Given the description of an element on the screen output the (x, y) to click on. 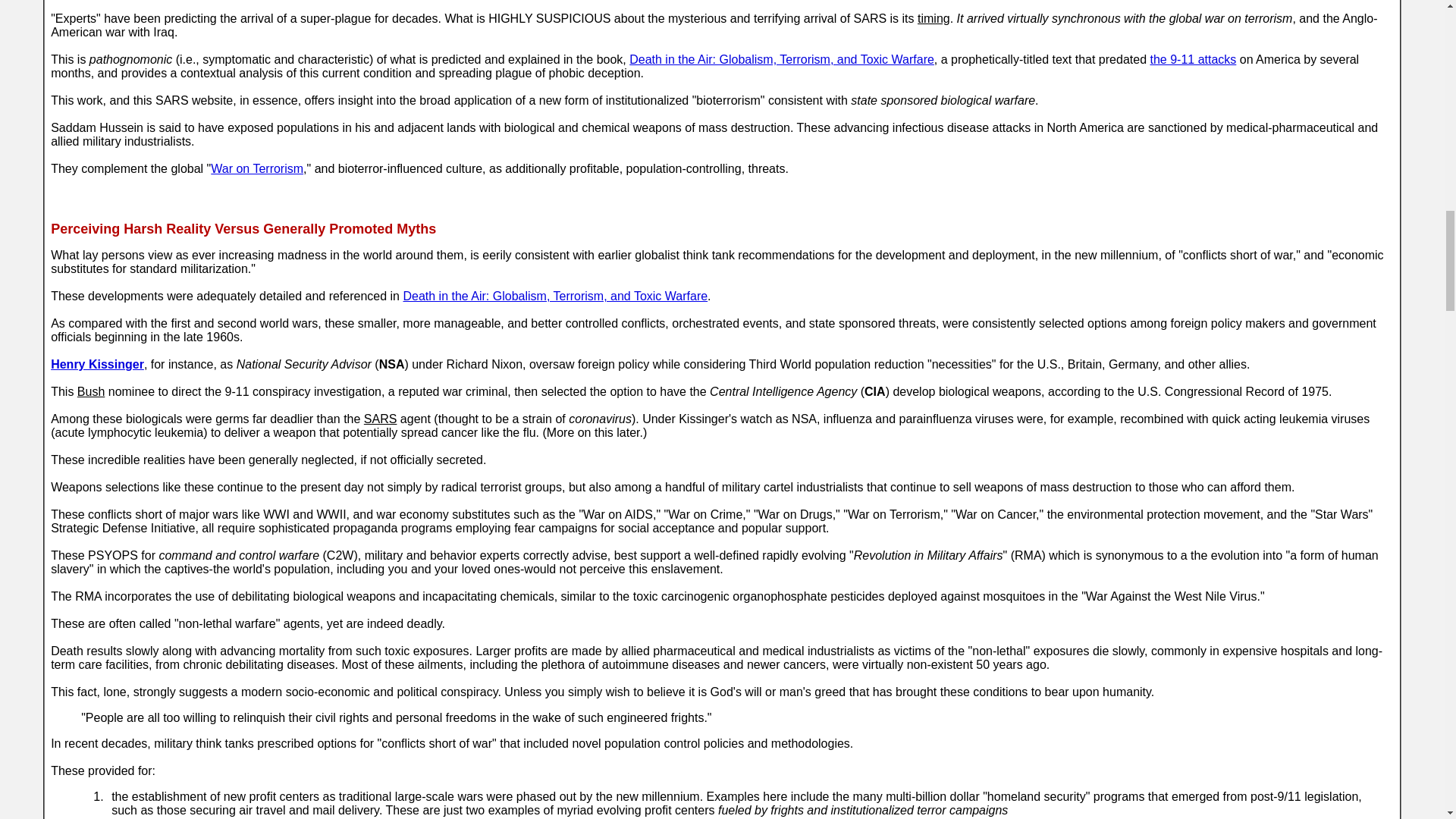
Death in the Air: Globalism, Terrorism, and Toxic Warfare (555, 295)
the 9-11 attacks (1193, 59)
Henry Kissinger (97, 364)
War on Terrorism (256, 168)
Death in the Air: Globalism, Terrorism, and Toxic Warfare (781, 59)
